Given the description of an element on the screen output the (x, y) to click on. 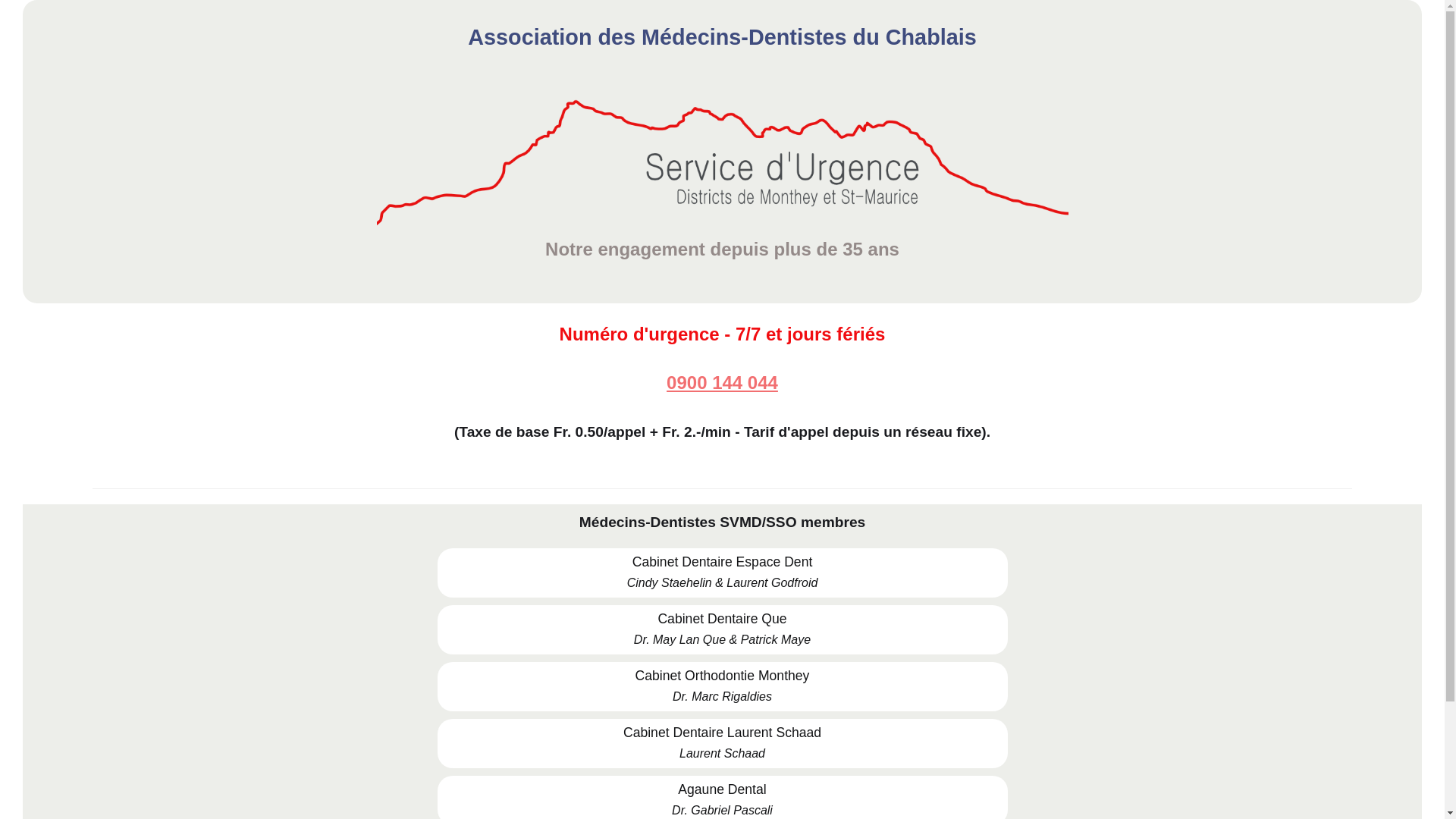
0900 144 044 Element type: text (722, 382)
